Given the description of an element on the screen output the (x, y) to click on. 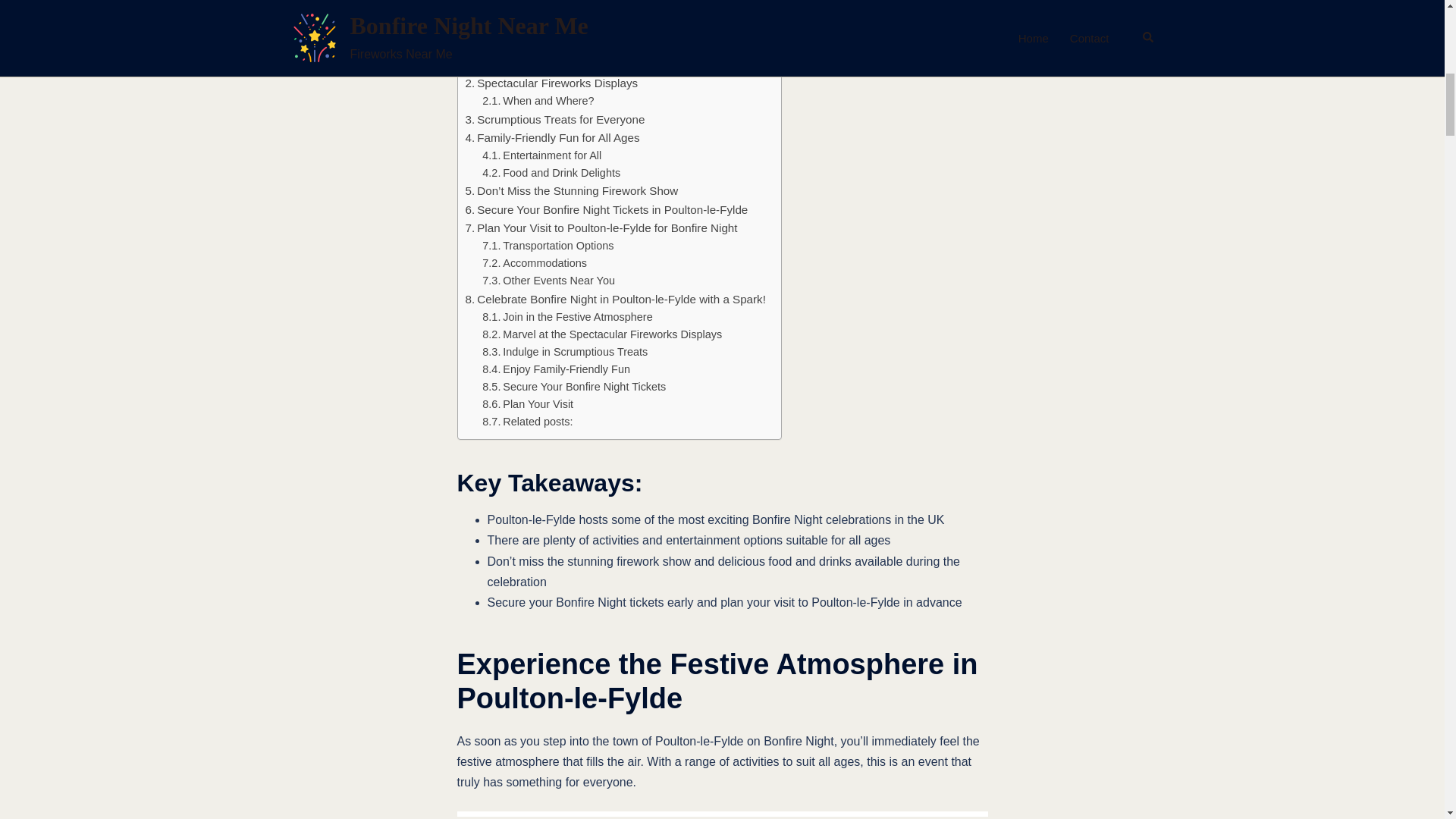
Get Involved in the Activities (560, 47)
Scrumptious Treats for Everyone (555, 119)
Accommodations (533, 262)
Plan Your Visit to Poulton-le-Fylde for Bonfire Night (601, 228)
When and Where? (537, 100)
Food and Drink Delights (550, 172)
Entertainment for All (541, 155)
Celebrate Bonfire Night in Poulton-le-Fylde with a Spark! (615, 299)
Scrumptious Treats for Everyone (555, 119)
Entertainment for All (541, 155)
Join in the Festive Atmosphere (566, 316)
Transportation Options (546, 245)
Eat, Drink, and Be Merry (552, 65)
Other Events Near You (547, 280)
Key Takeaways: (535, 11)
